Given the description of an element on the screen output the (x, y) to click on. 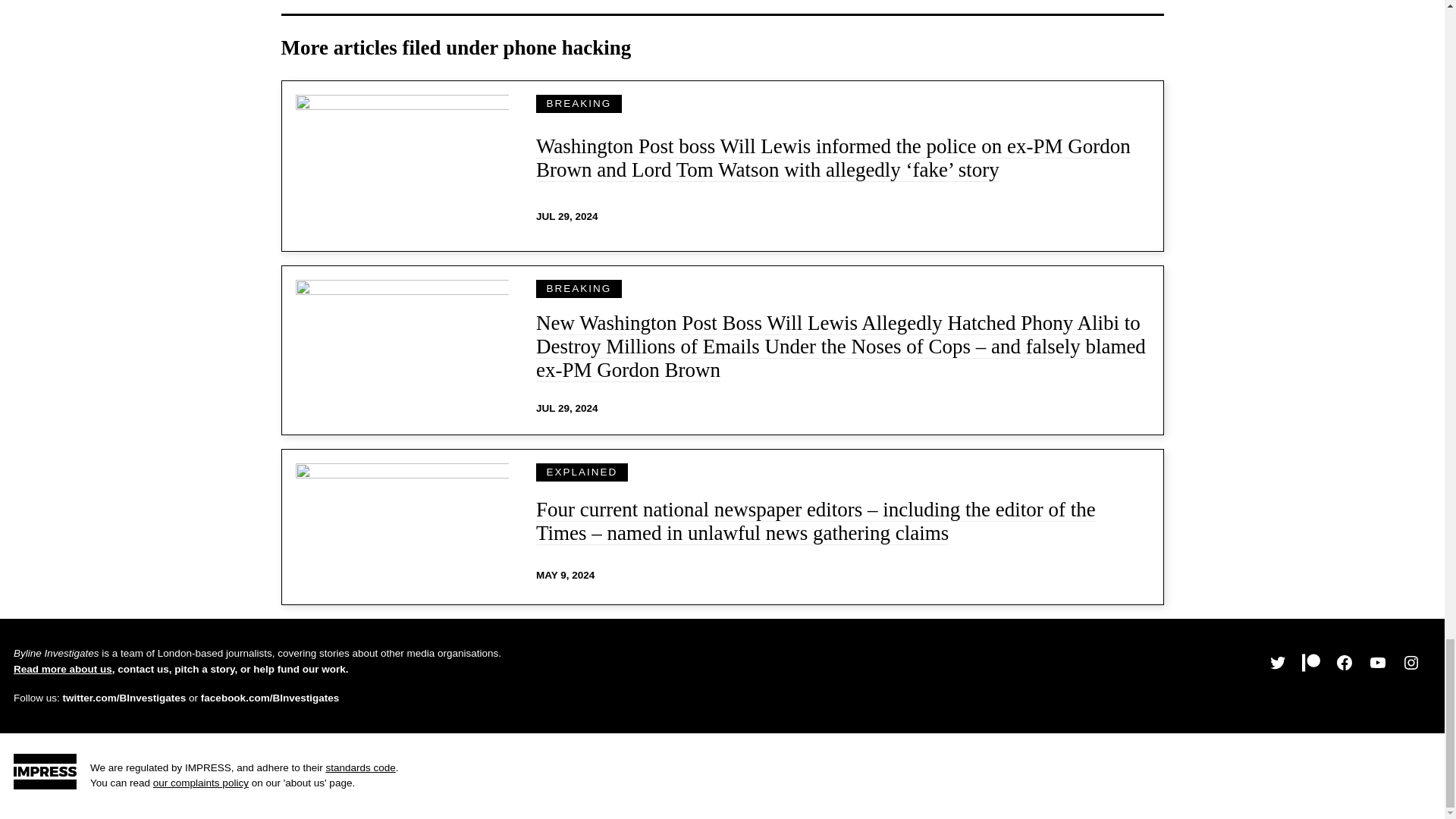
our complaints policy (200, 783)
standards code (359, 767)
